Given the description of an element on the screen output the (x, y) to click on. 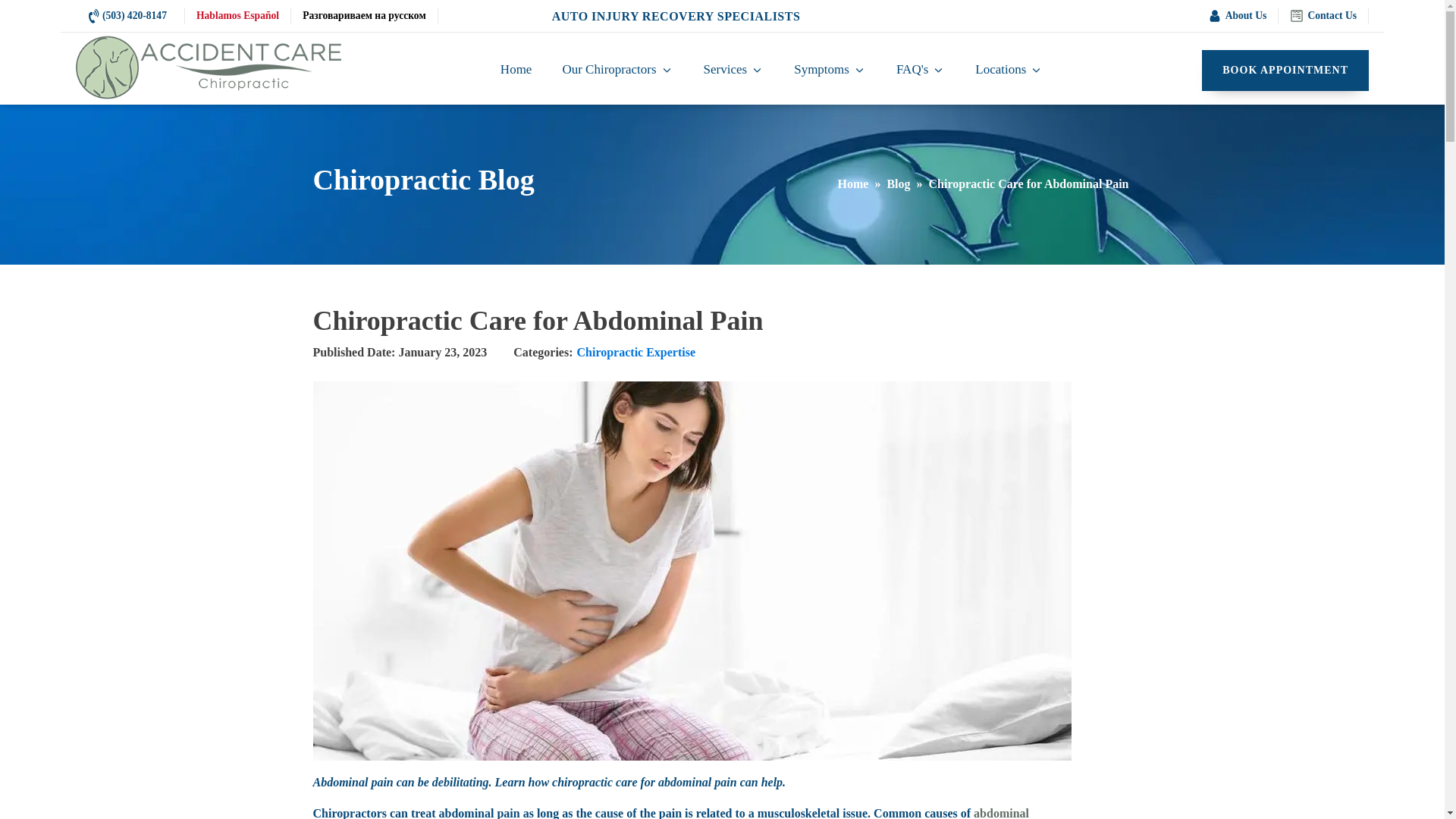
Our Chiropractors (617, 70)
About Us (1237, 15)
Home (515, 70)
Breadcrumb link to Home (852, 183)
Contact Us (1323, 15)
